Given the description of an element on the screen output the (x, y) to click on. 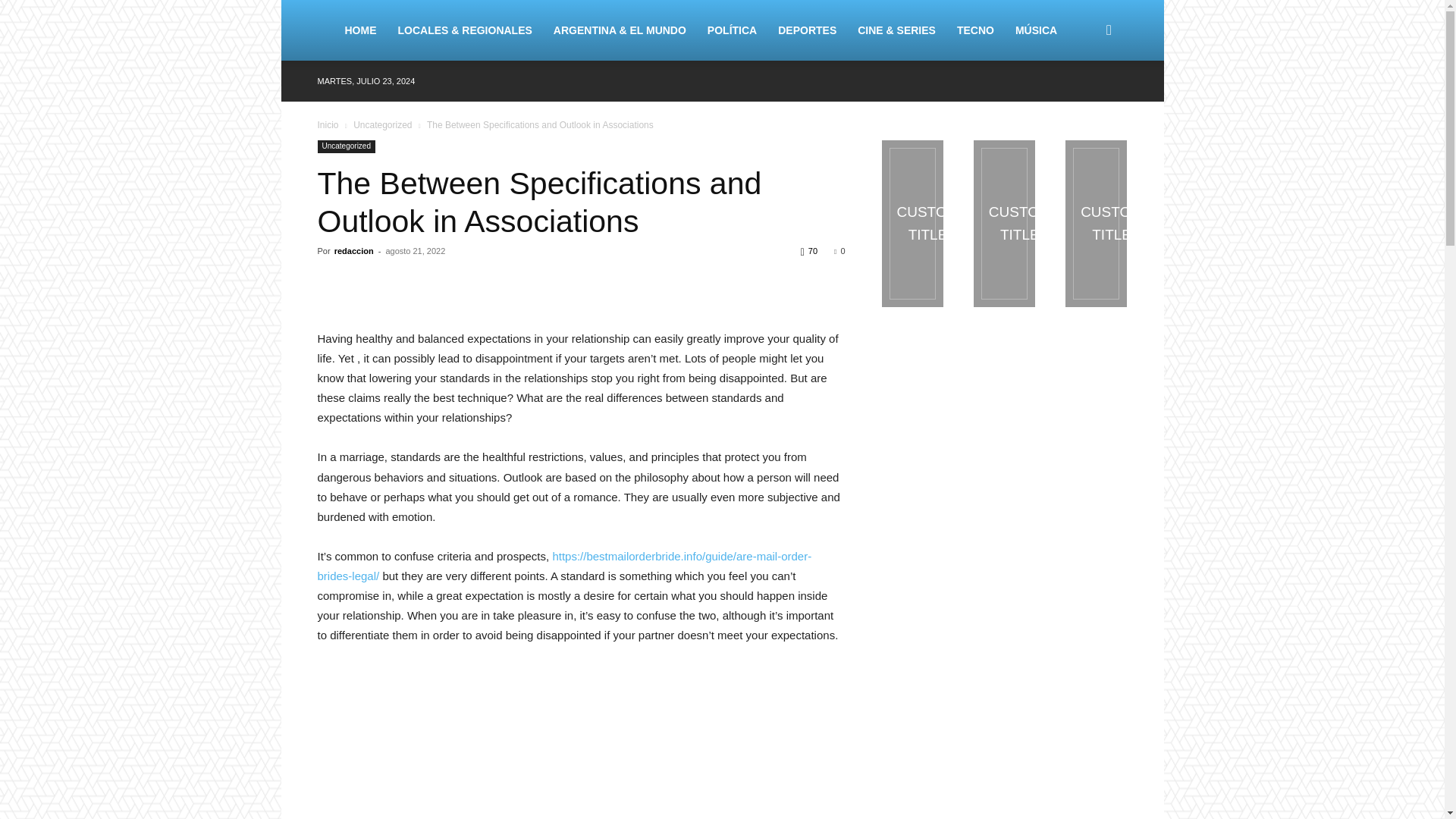
Buscar (1085, 102)
Uncategorized (382, 124)
Inicio (327, 124)
redaccion (354, 250)
0 (839, 250)
Uncategorized (345, 146)
Ver todas las publicaciones en Uncategorized (382, 124)
TECNO (975, 30)
DEPORTES (807, 30)
